Given the description of an element on the screen output the (x, y) to click on. 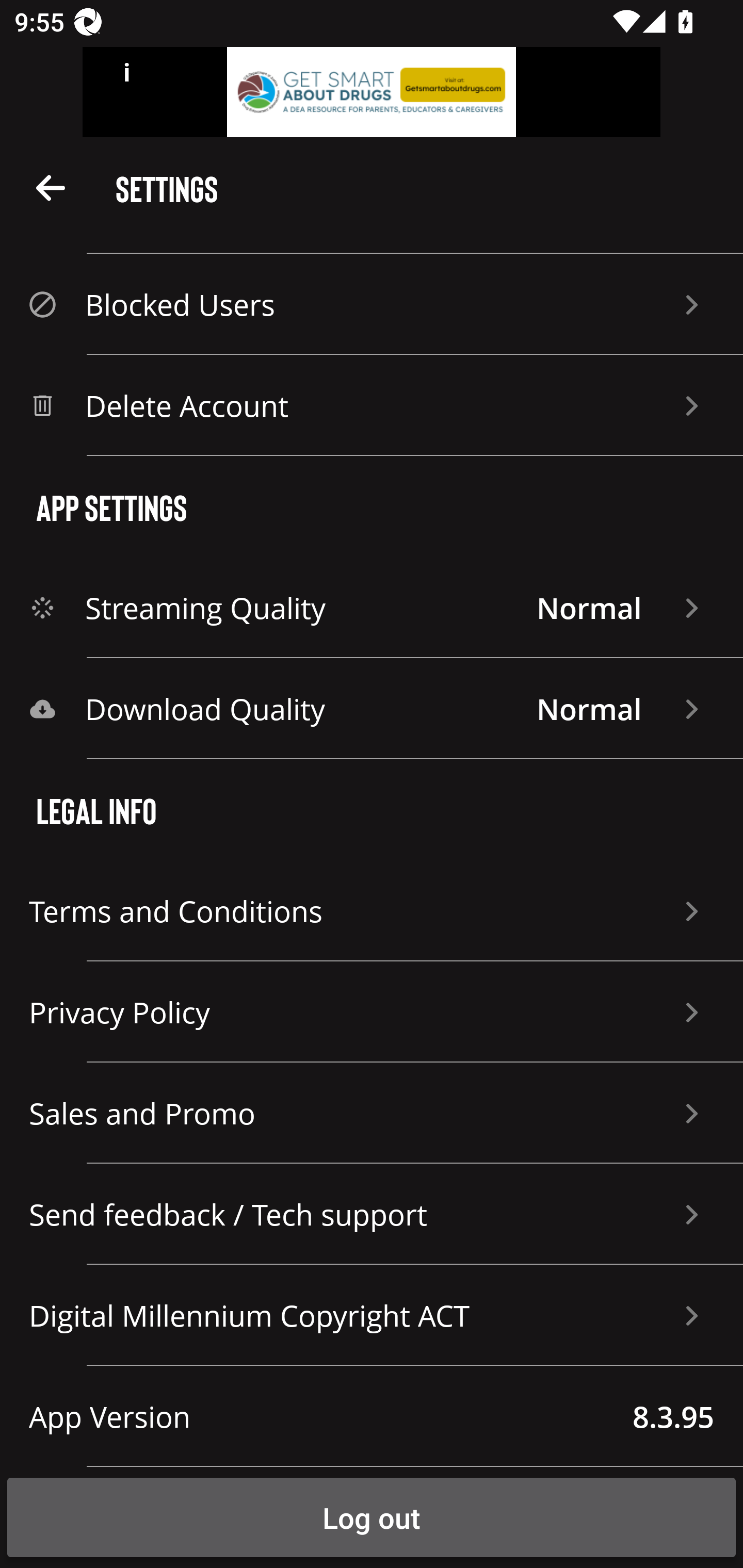
Description (50, 187)
Blocked Users (371, 304)
Delete Account (371, 405)
Streaming Quality Normal (371, 607)
Download Quality Normal (371, 708)
Terms and Conditions (371, 910)
Privacy Policy (371, 1012)
Sales and Promo (371, 1113)
Send feedback / Tech support (371, 1214)
Digital Millennium Copyright ACT (371, 1315)
Log out (371, 1517)
